Given the description of an element on the screen output the (x, y) to click on. 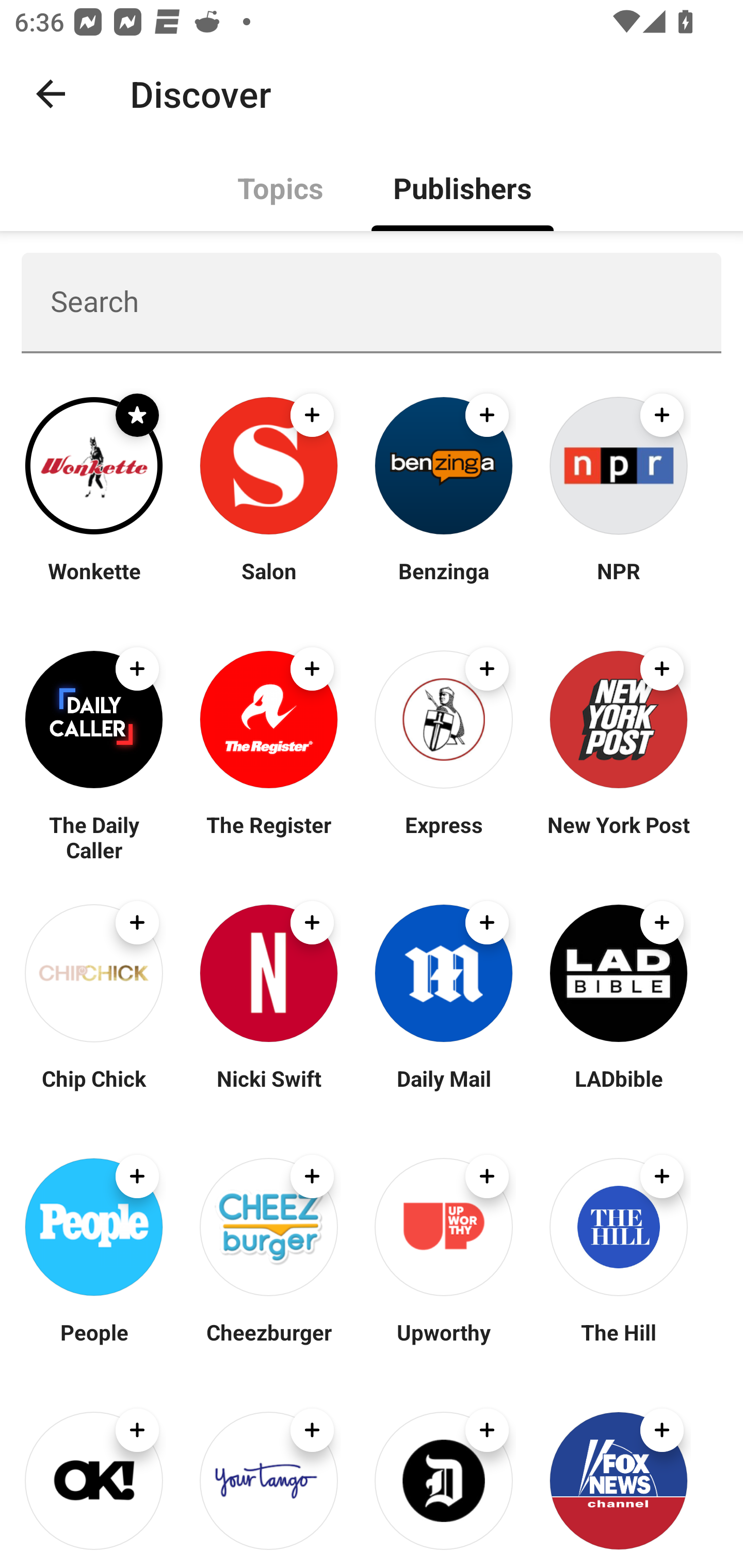
Topics (280, 187)
Search (371, 302)
Wonkette (93, 582)
Salon (268, 582)
Benzinga (443, 582)
NPR (618, 582)
The Daily Caller (93, 836)
The Register (268, 836)
Express (443, 836)
New York Post (618, 836)
Chip Chick (93, 1090)
Nicki Swift (268, 1090)
Daily Mail (443, 1090)
LADbible (618, 1090)
People (93, 1344)
Cheezburger (268, 1344)
Upworthy (443, 1344)
